Given the description of an element on the screen output the (x, y) to click on. 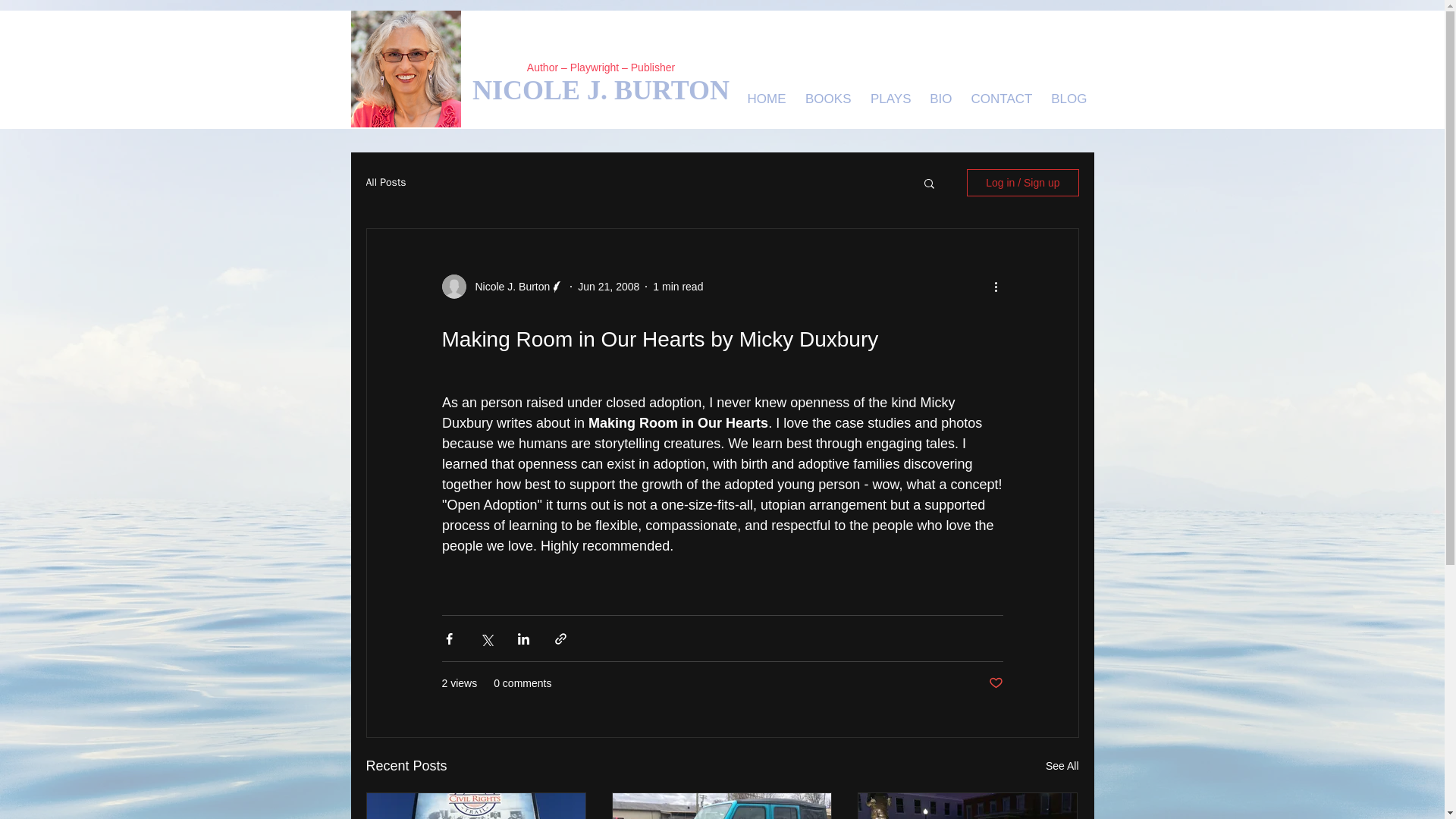
See All (1061, 766)
Post not marked as liked (995, 683)
BLOG (1067, 98)
HOME (764, 98)
All Posts (385, 182)
BIO (938, 98)
Jun 21, 2008 (608, 286)
1 min read (677, 286)
CONTACT (1000, 98)
PLAYS (890, 98)
Nicole J. Burton (507, 286)
BOOKS (827, 98)
